Given the description of an element on the screen output the (x, y) to click on. 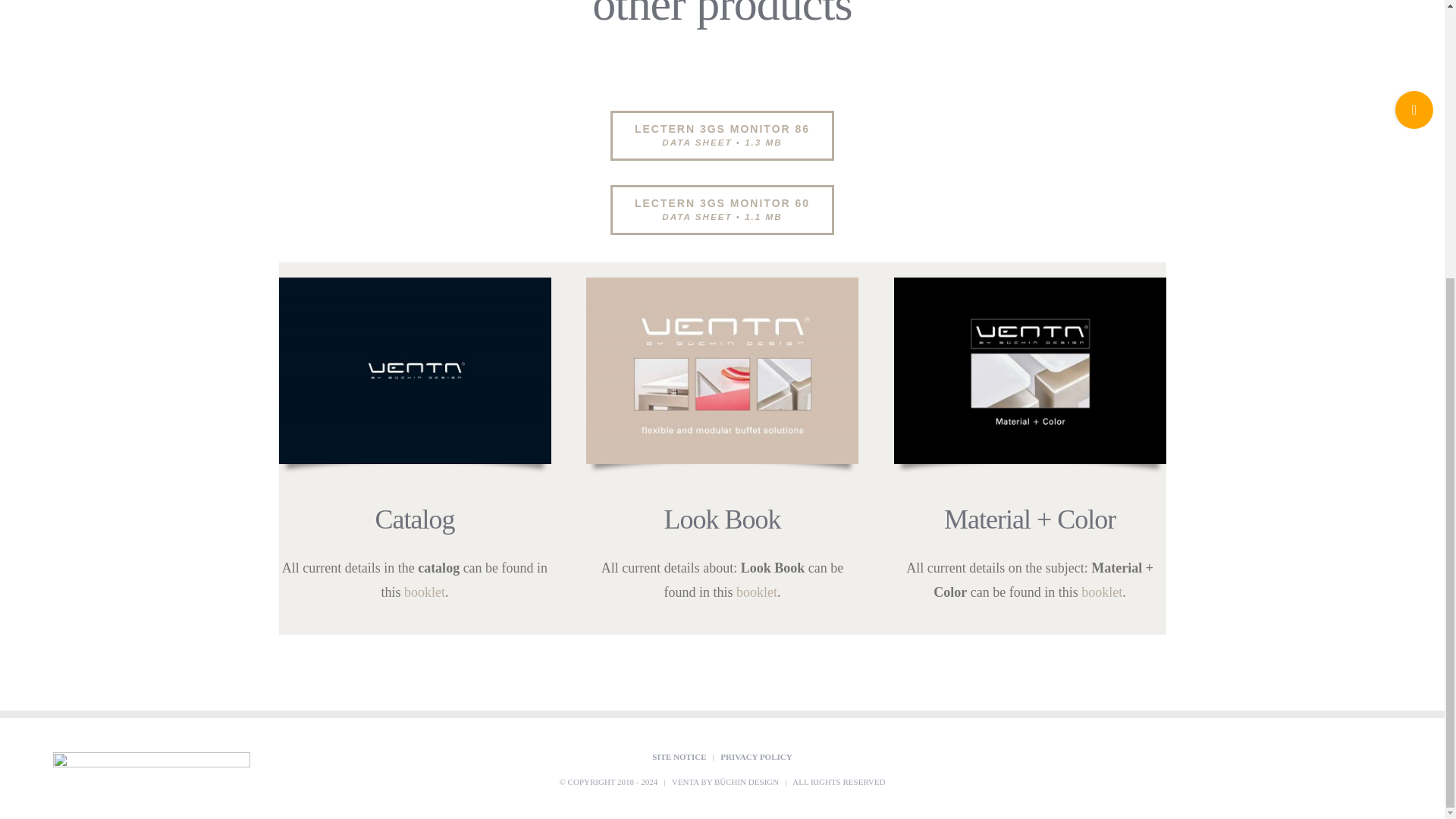
Lectern 3GS Monitor 86 (722, 135)
Lectern 3GS Monitor 60 (722, 210)
Ventadesign offers many other products (722, 41)
